Given the description of an element on the screen output the (x, y) to click on. 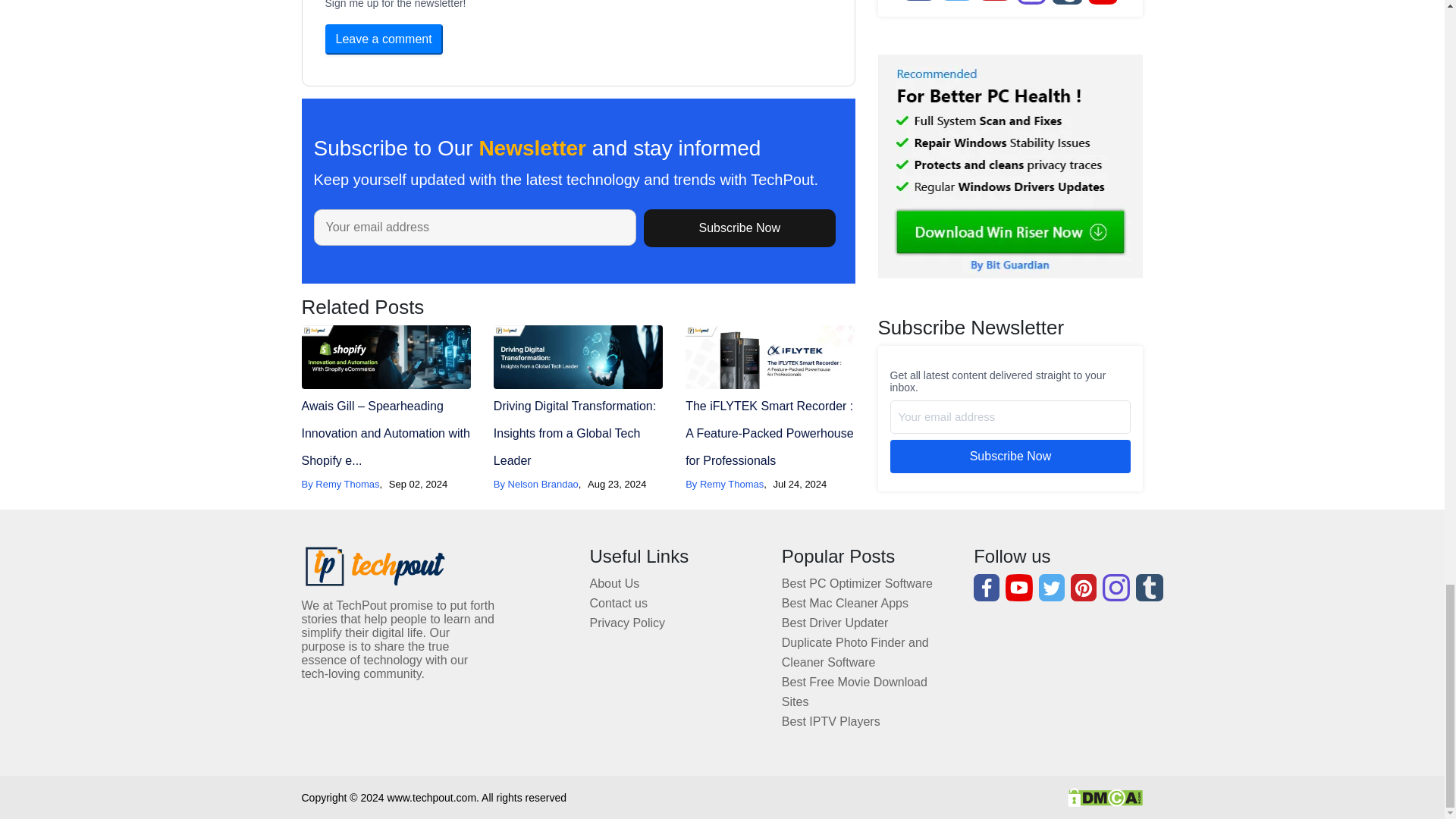
Subscribe Now (739, 228)
By Remy Thomas (723, 483)
Subscribe Now (739, 228)
By Remy Thomas (340, 483)
Leave a comment (383, 39)
Leave a comment (383, 39)
Subscribe Now (1010, 161)
By Nelson Brandao (535, 483)
